Given the description of an element on the screen output the (x, y) to click on. 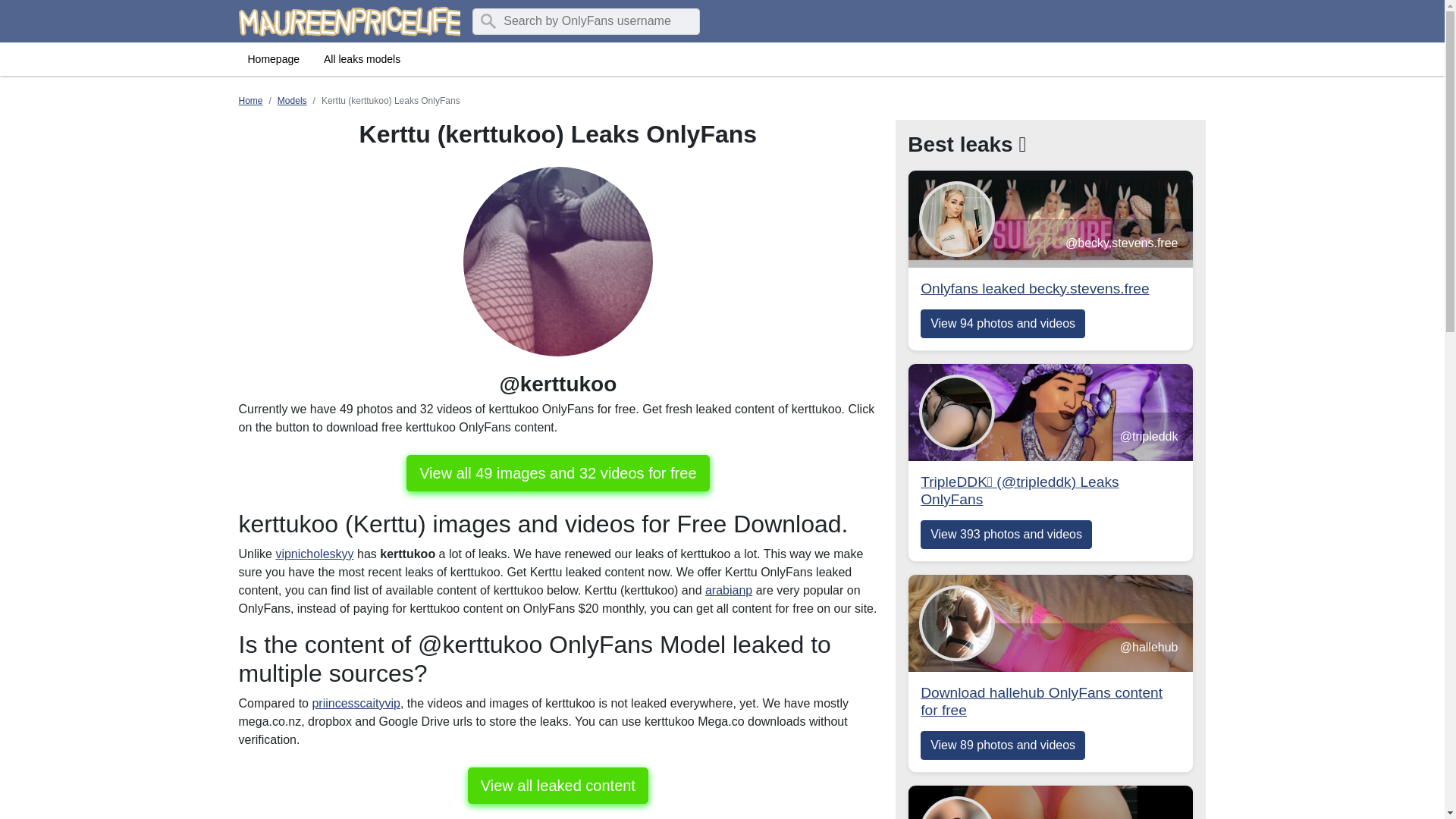
Home (250, 100)
arabianp (728, 590)
All leaks models (361, 58)
Homepage (1050, 304)
vipnicholeskyy (273, 58)
priincesscaityvip (314, 553)
Models (354, 703)
View all leaked content (292, 100)
View all 49 images and 32 videos for free (557, 785)
